Given the description of an element on the screen output the (x, y) to click on. 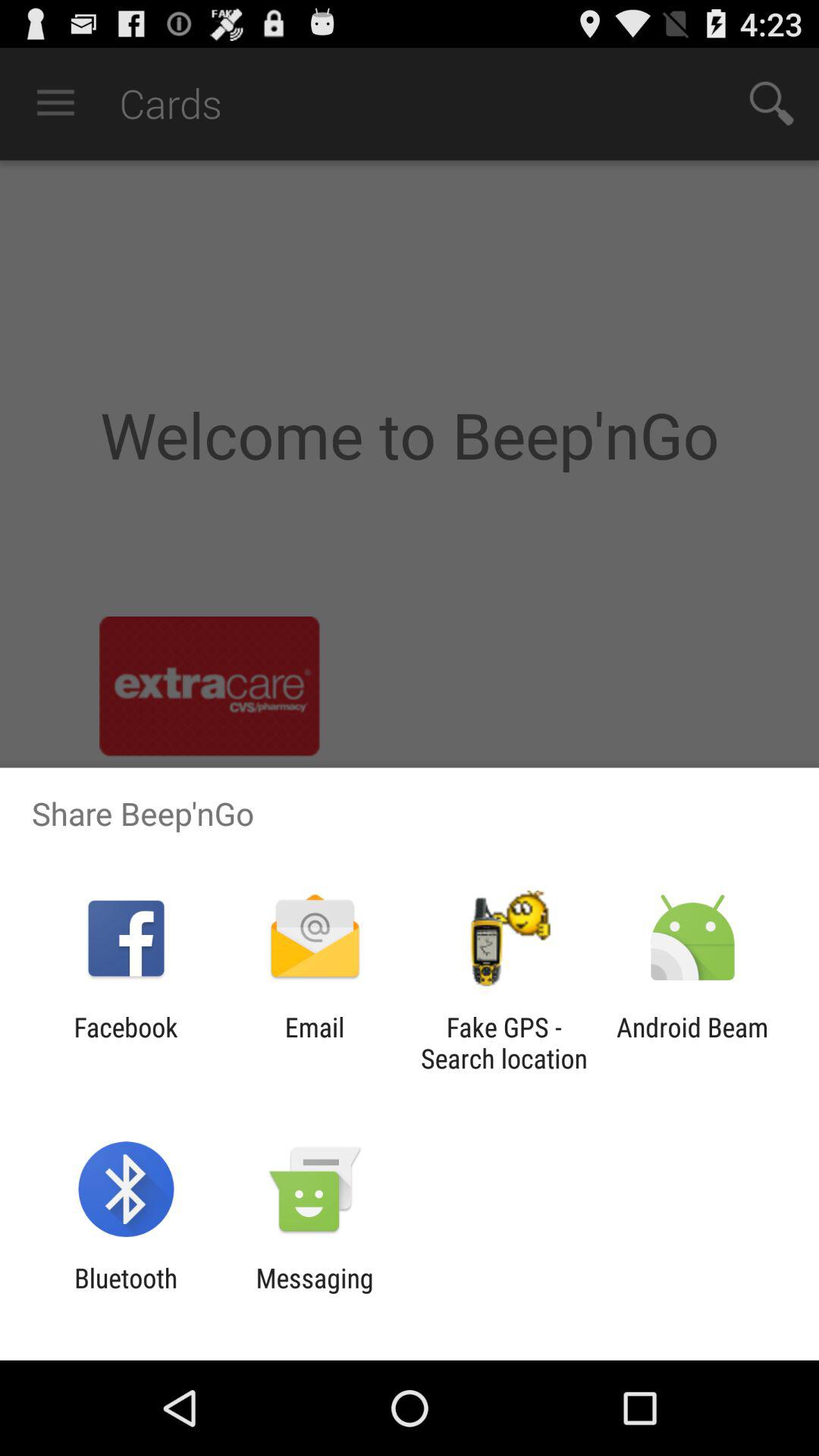
turn on icon to the left of the email item (125, 1042)
